Given the description of an element on the screen output the (x, y) to click on. 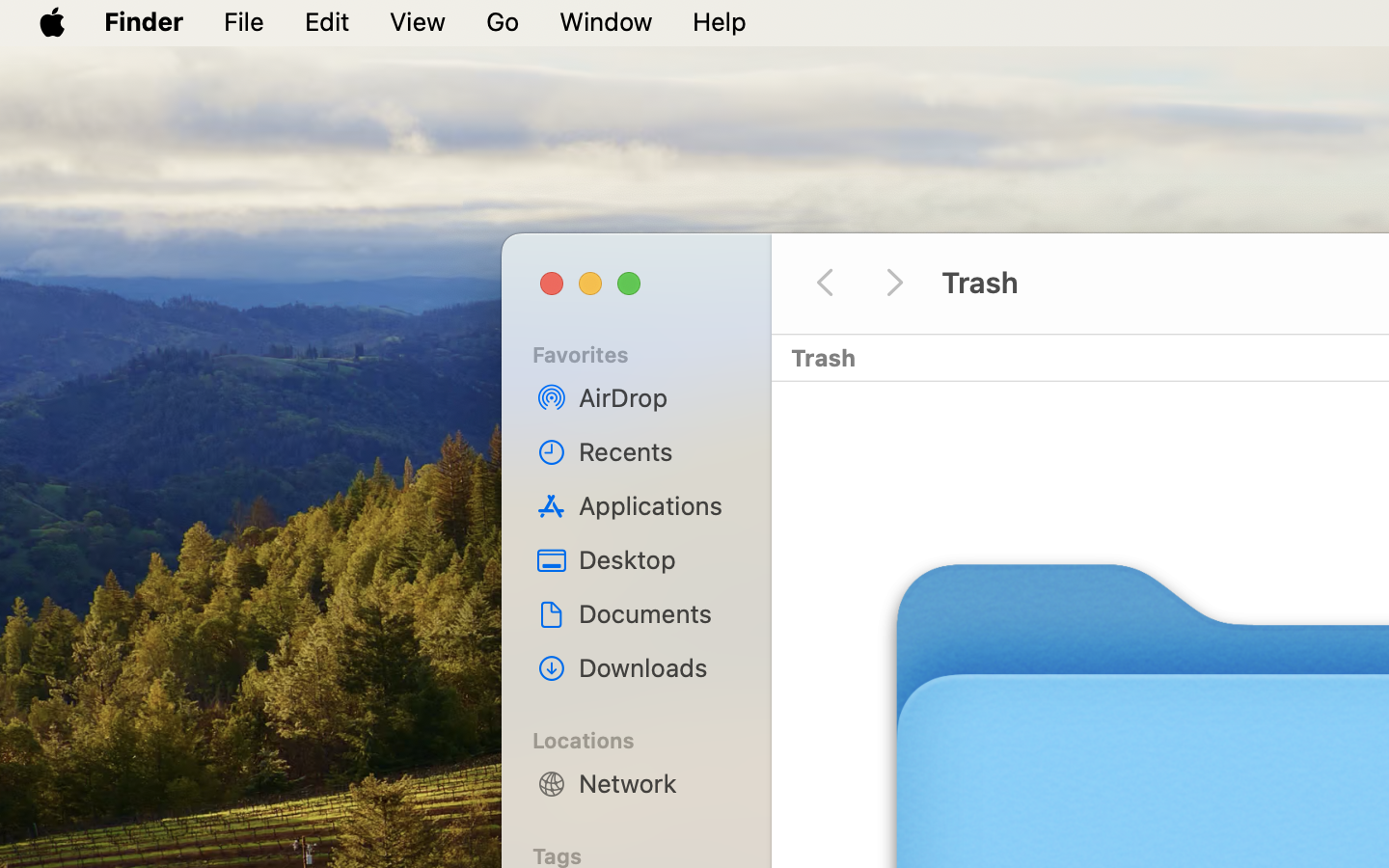
Recents Element type: AXStaticText (656, 450)
Desktop Element type: AXStaticText (656, 558)
Downloads Element type: AXStaticText (656, 666)
Documents Element type: AXStaticText (656, 612)
Favorites Element type: AXStaticText (646, 351)
